Given the description of an element on the screen output the (x, y) to click on. 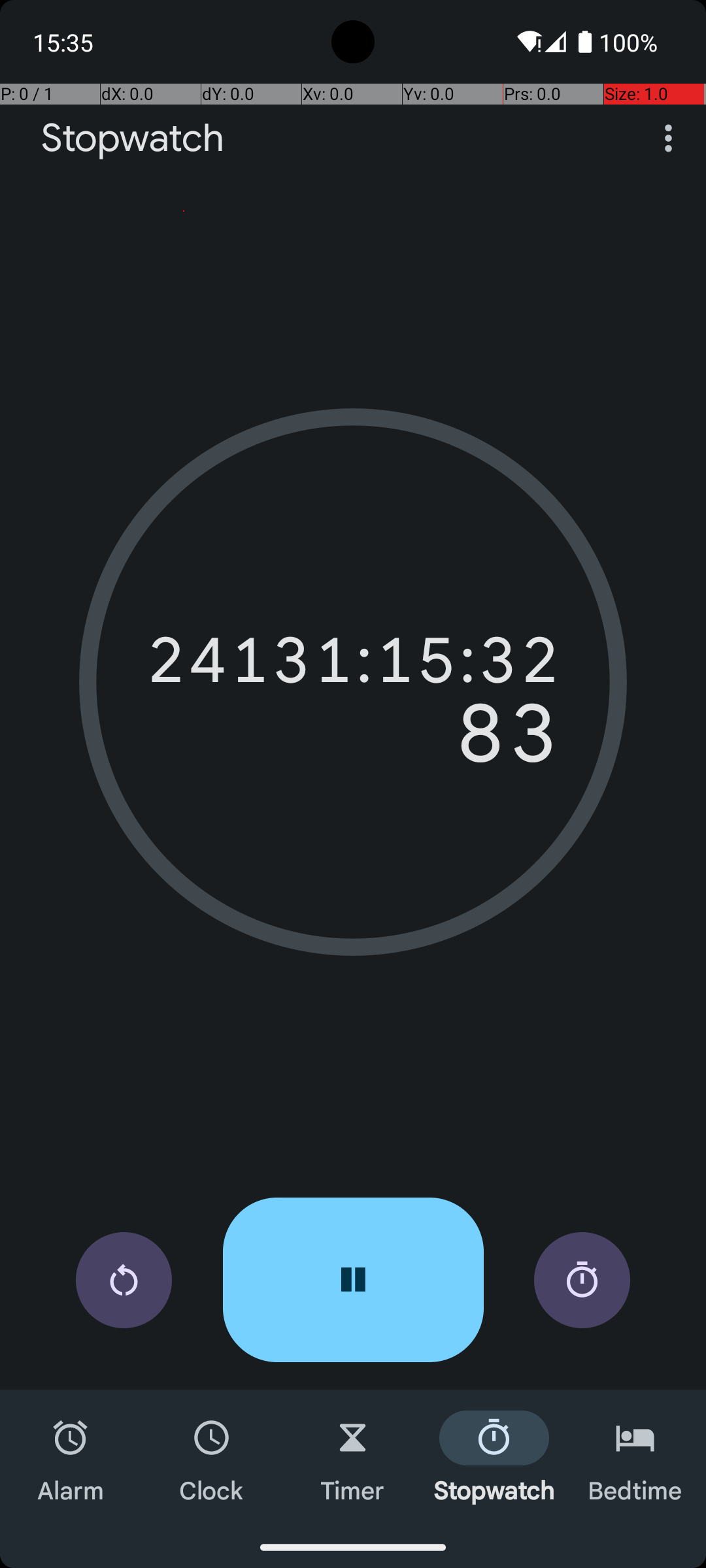
Lap Element type: android.widget.ImageButton (582, 1280)
24131:15:30 Element type: android.widget.TextView (352, 659)
